Given the description of an element on the screen output the (x, y) to click on. 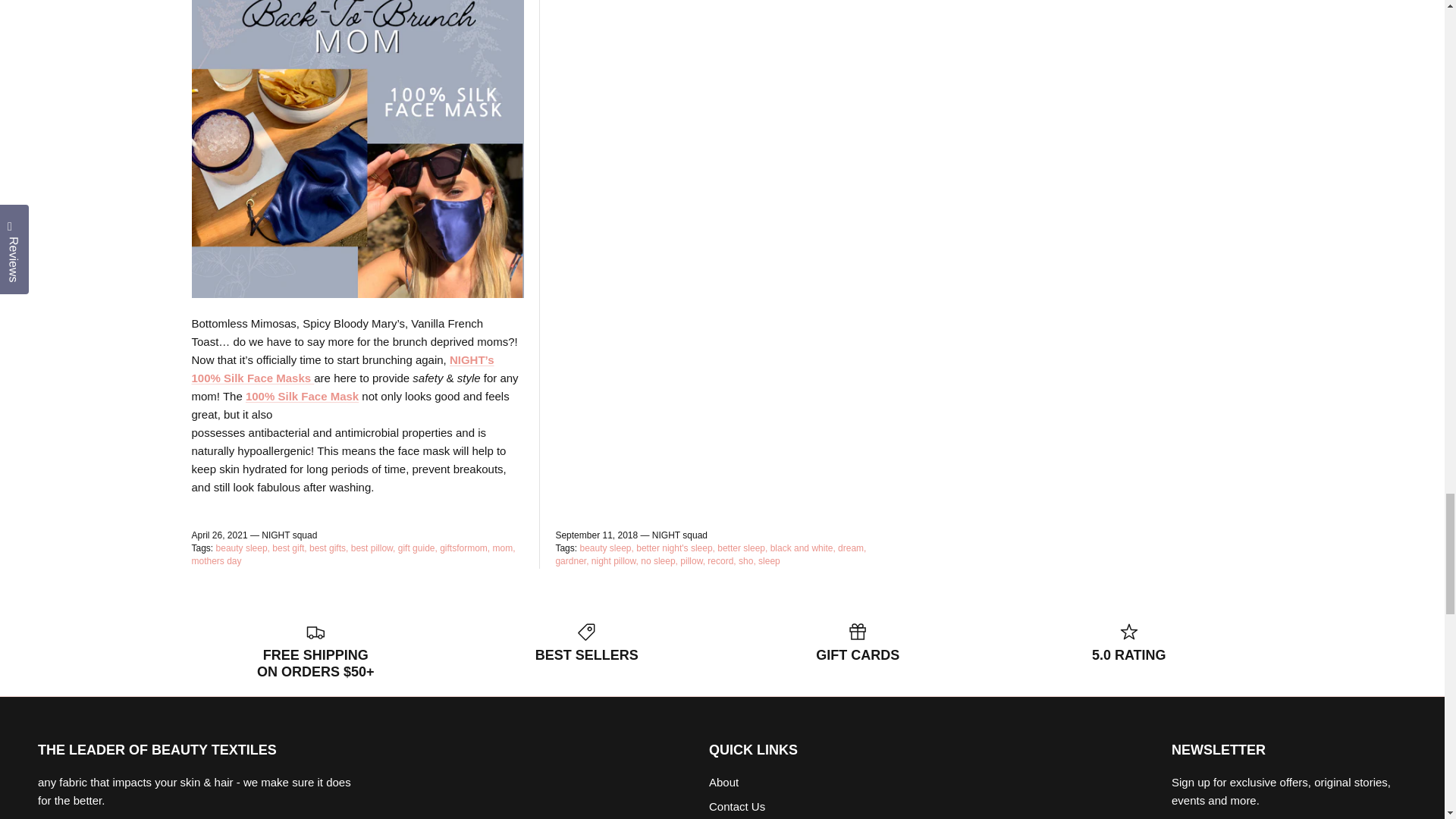
Show articles tagged better night's sleep (675, 547)
Show articles tagged gift guide (417, 547)
Show articles tagged better sleep (742, 547)
Show articles tagged best pillow (373, 547)
Show articles tagged mom (504, 547)
Show articles tagged night pillow (615, 561)
Show articles tagged best gift (288, 547)
Show articles tagged beauty sleep (606, 547)
Show articles tagged mothers day (215, 561)
Show articles tagged beauty sleep (242, 547)
Show articles tagged giftsformom (464, 547)
Show articles tagged gardner (571, 561)
Show articles tagged dream (852, 547)
Show articles tagged black and white (802, 547)
Show articles tagged best gifts (327, 547)
